Given the description of an element on the screen output the (x, y) to click on. 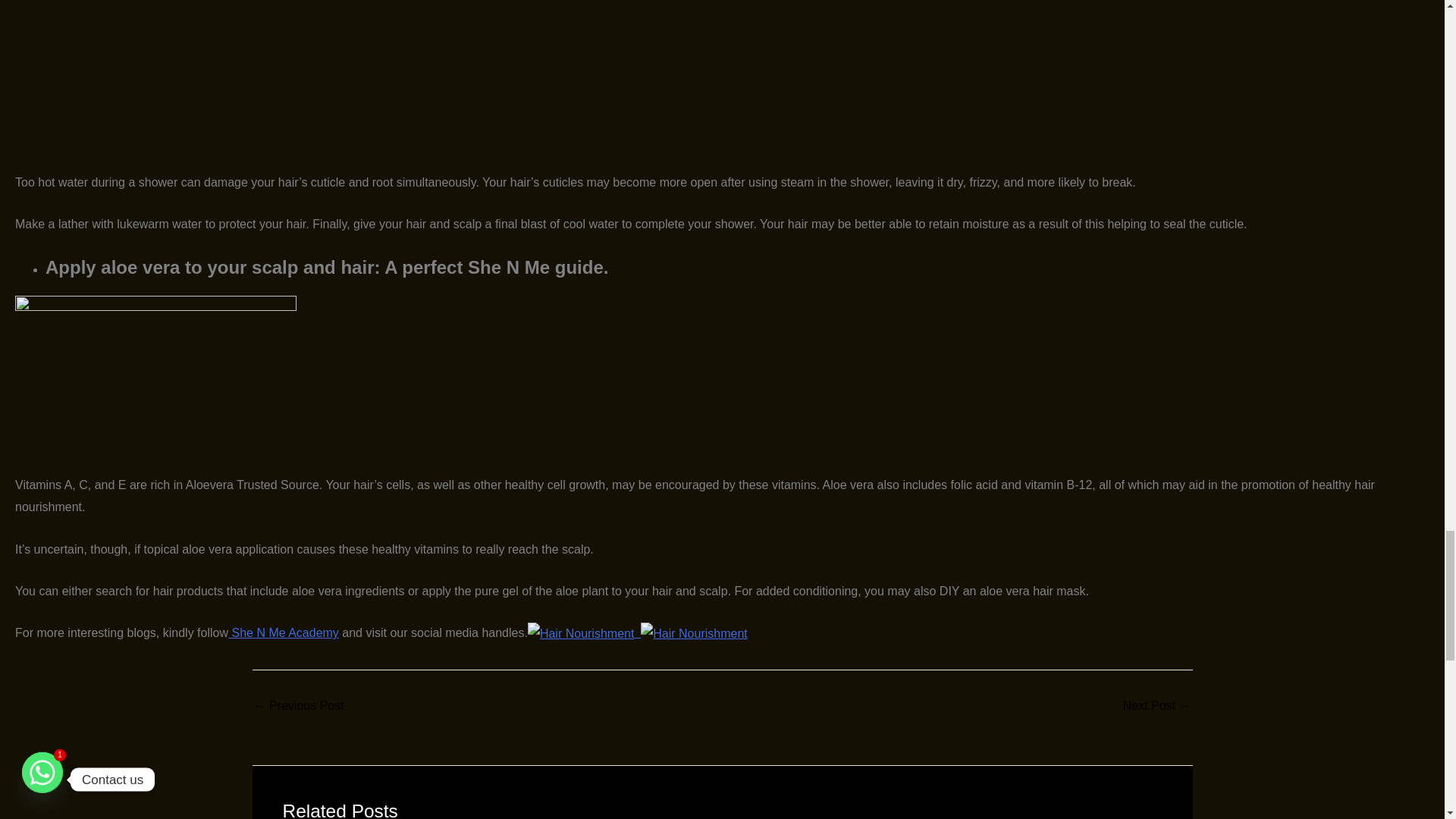
4 Remarkable Hair products for women in 2024. (298, 705)
She N Me Academy (283, 632)
SKIN THERAPY AND BEYOND (1156, 705)
